Given the description of an element on the screen output the (x, y) to click on. 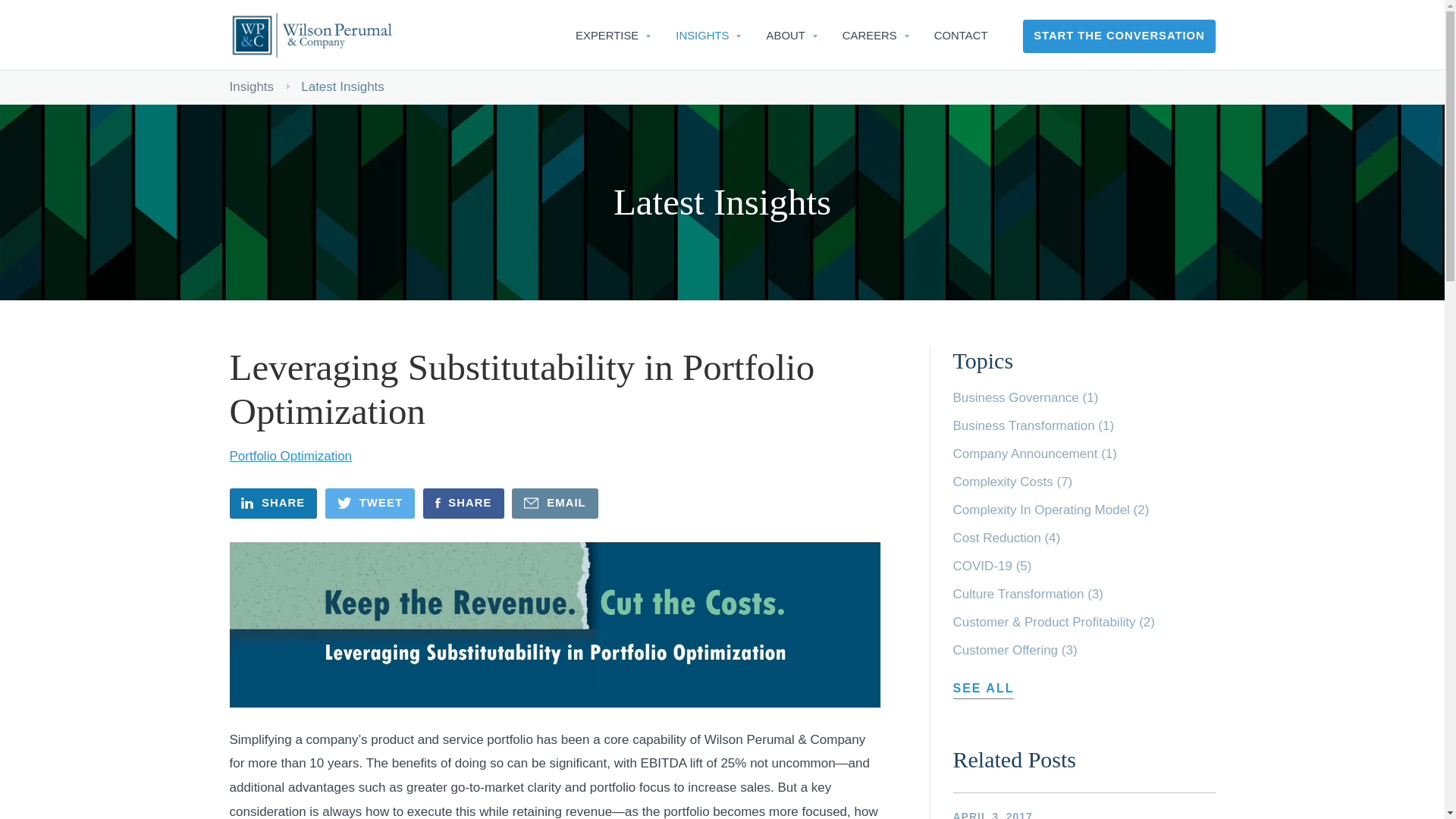
EXPERTISE (607, 36)
Share on LinkedIn (272, 503)
Email (555, 503)
INSIGHTS (702, 36)
Share on Facebook (463, 503)
Tweet on Twitter (369, 503)
